Given the description of an element on the screen output the (x, y) to click on. 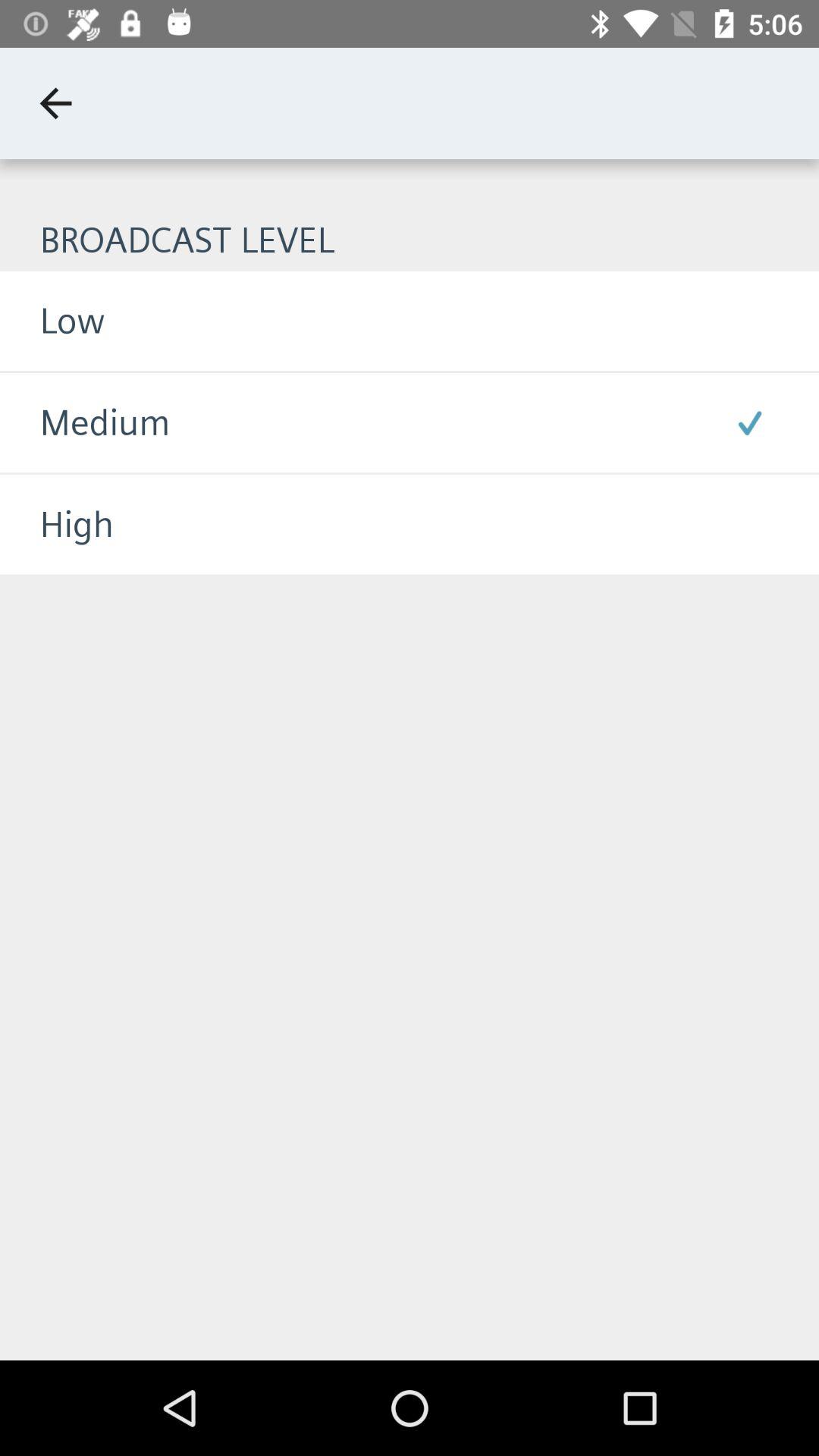
press item above the medium (52, 320)
